Given the description of an element on the screen output the (x, y) to click on. 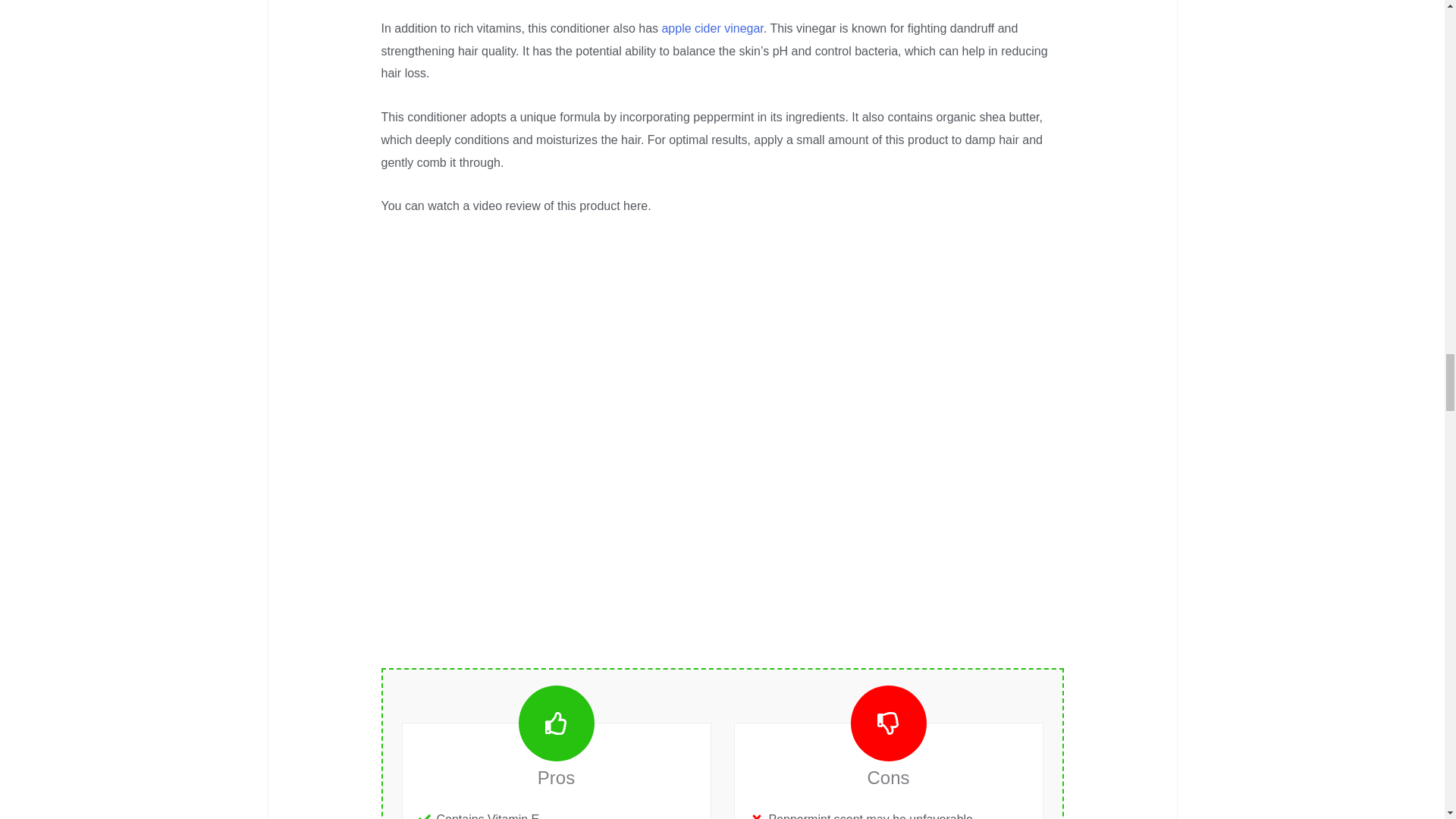
apple cider vinegar (711, 28)
